Given the description of an element on the screen output the (x, y) to click on. 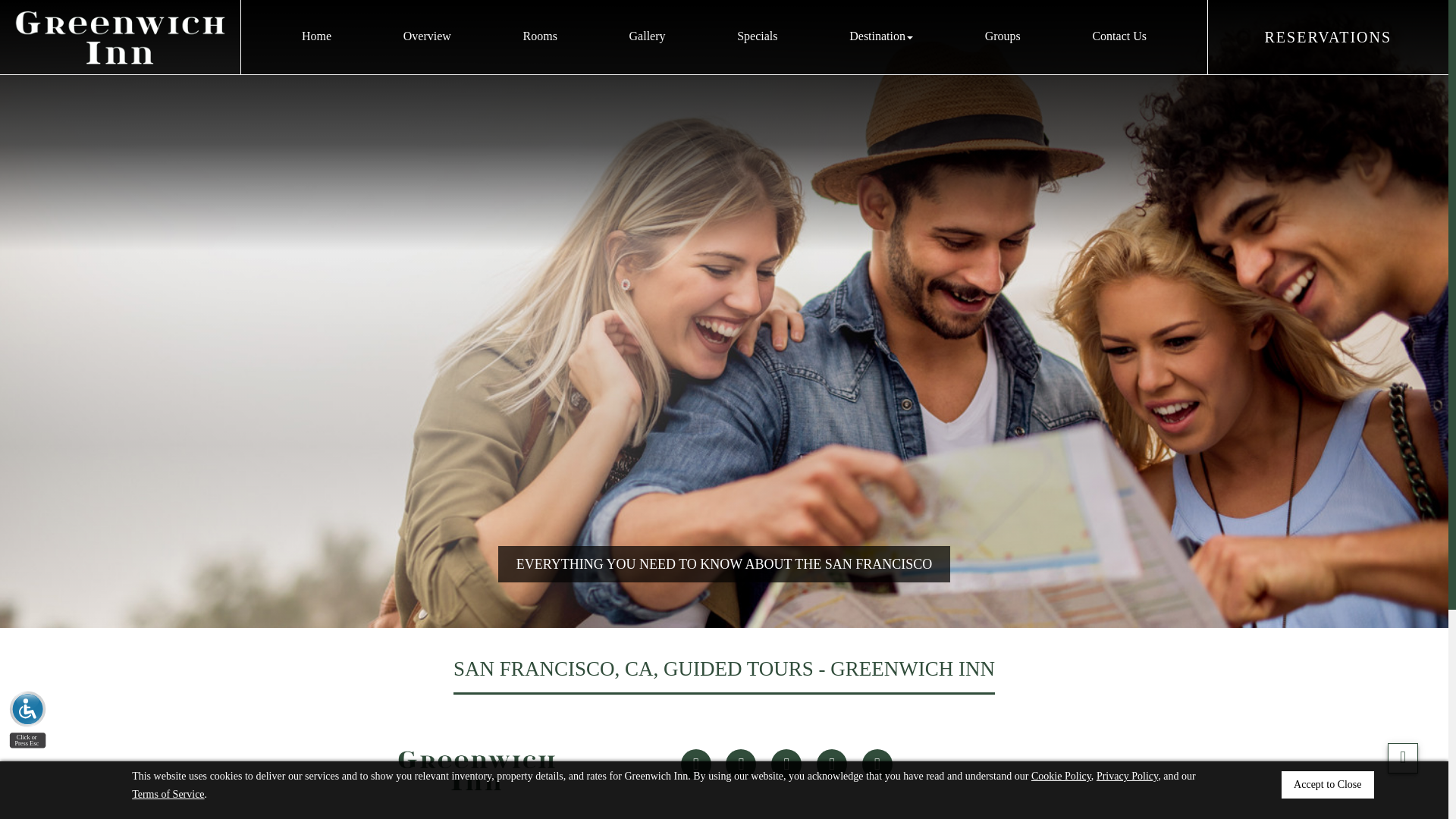
Home (315, 36)
Reservations (1328, 37)
Specials (757, 36)
Contact Us (1118, 36)
Rooms (540, 36)
Groups  (1003, 36)
Gallery (647, 36)
Overview (427, 36)
Home (315, 36)
Specials (757, 36)
Contact Us (1118, 36)
Rooms (540, 36)
Destination (881, 36)
Gallery (647, 36)
